Given the description of an element on the screen output the (x, y) to click on. 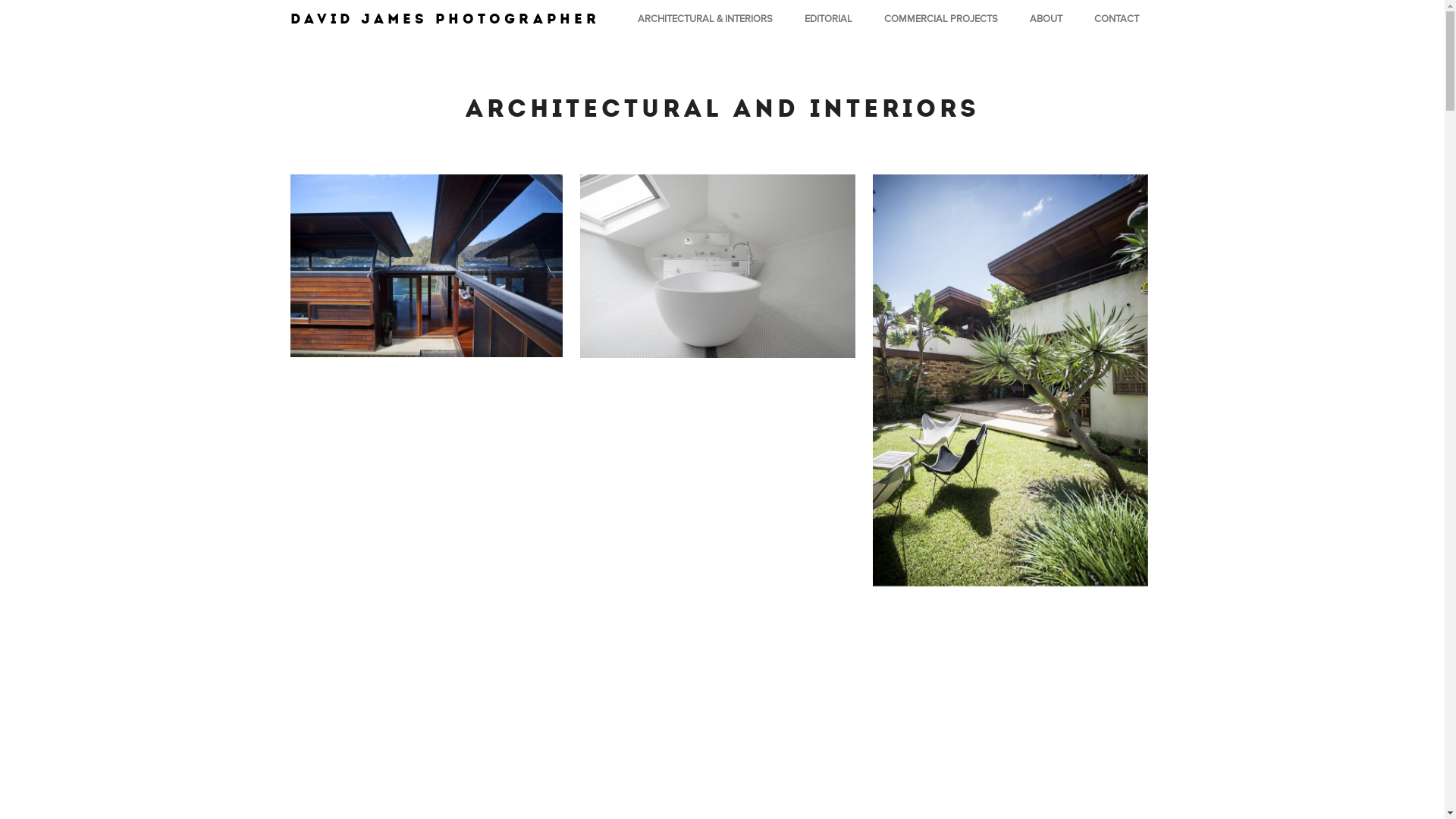
CONTACT Element type: text (1115, 18)
ABOUT Element type: text (1045, 18)
EDITORIAL Element type: text (827, 18)
DAVID JAMES PHOTOGRAPHER Element type: text (444, 18)
COMMERCIAL PROJECTS Element type: text (940, 18)
ARCHITECTURAL & INTERIORS Element type: text (704, 18)
